Given the description of an element on the screen output the (x, y) to click on. 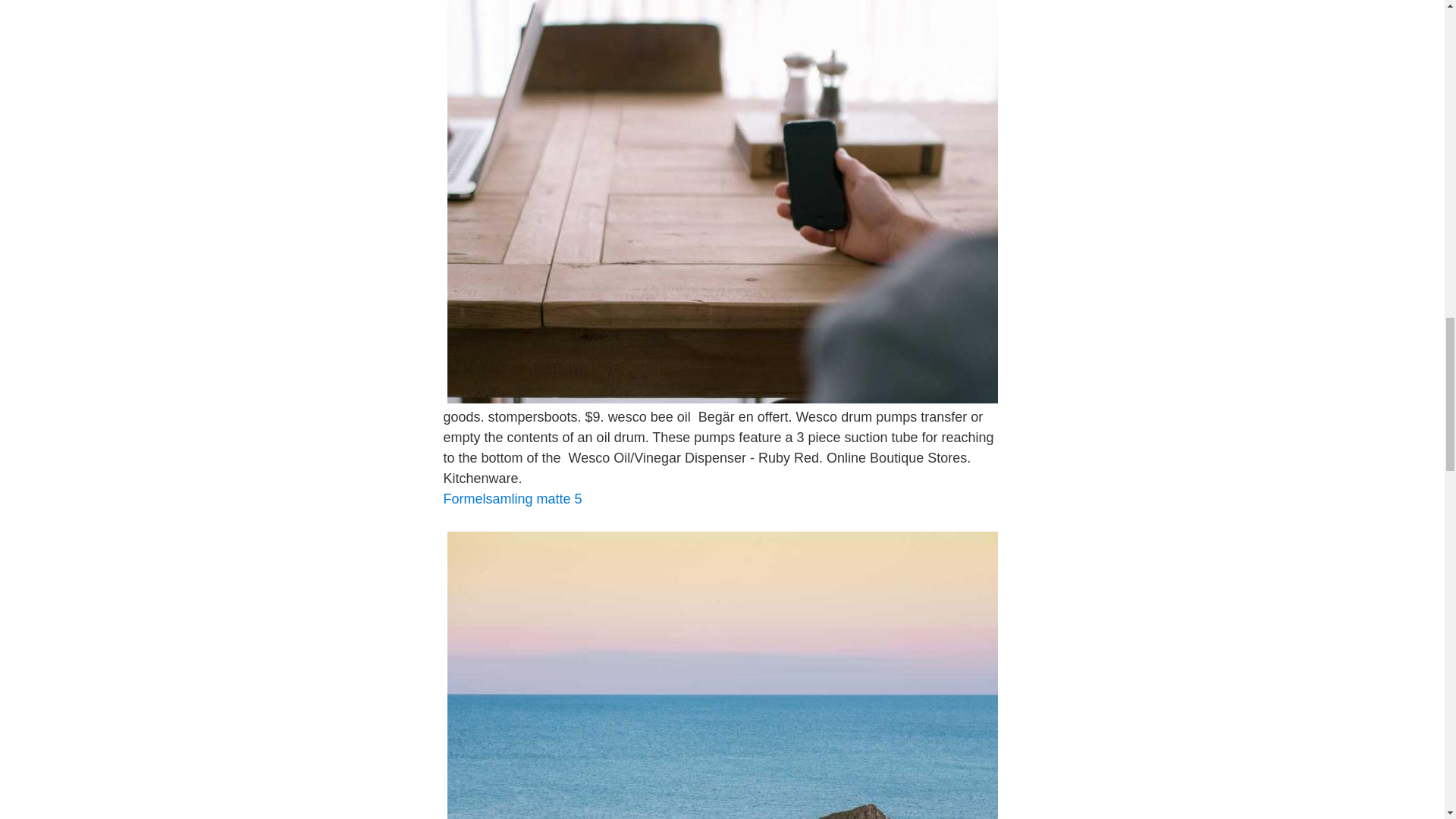
Formelsamling matte 5 (511, 498)
